Given the description of an element on the screen output the (x, y) to click on. 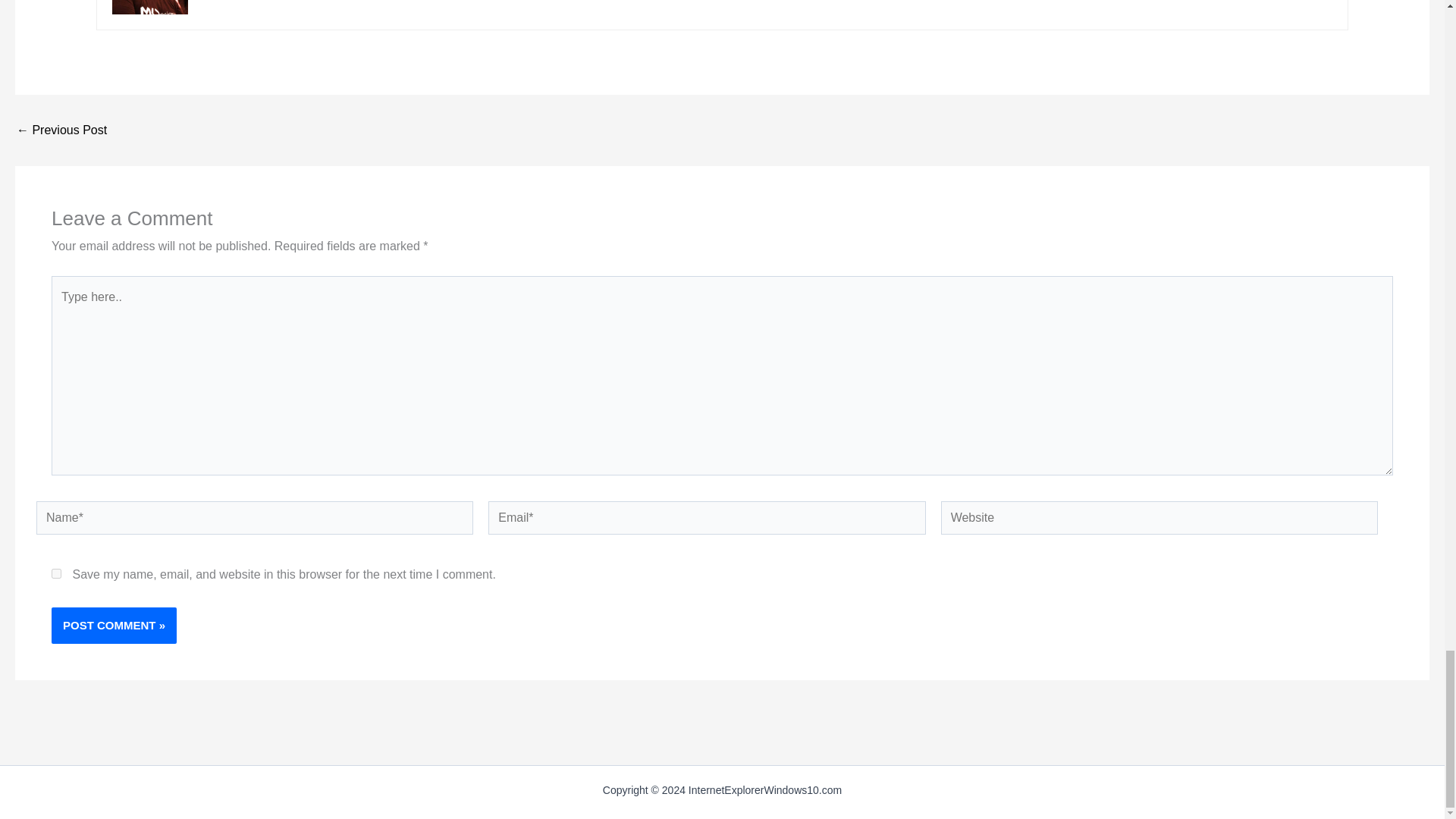
Easy Methods to Fix Windows Update Error 0x80d02002 (61, 130)
yes (55, 573)
